Given the description of an element on the screen output the (x, y) to click on. 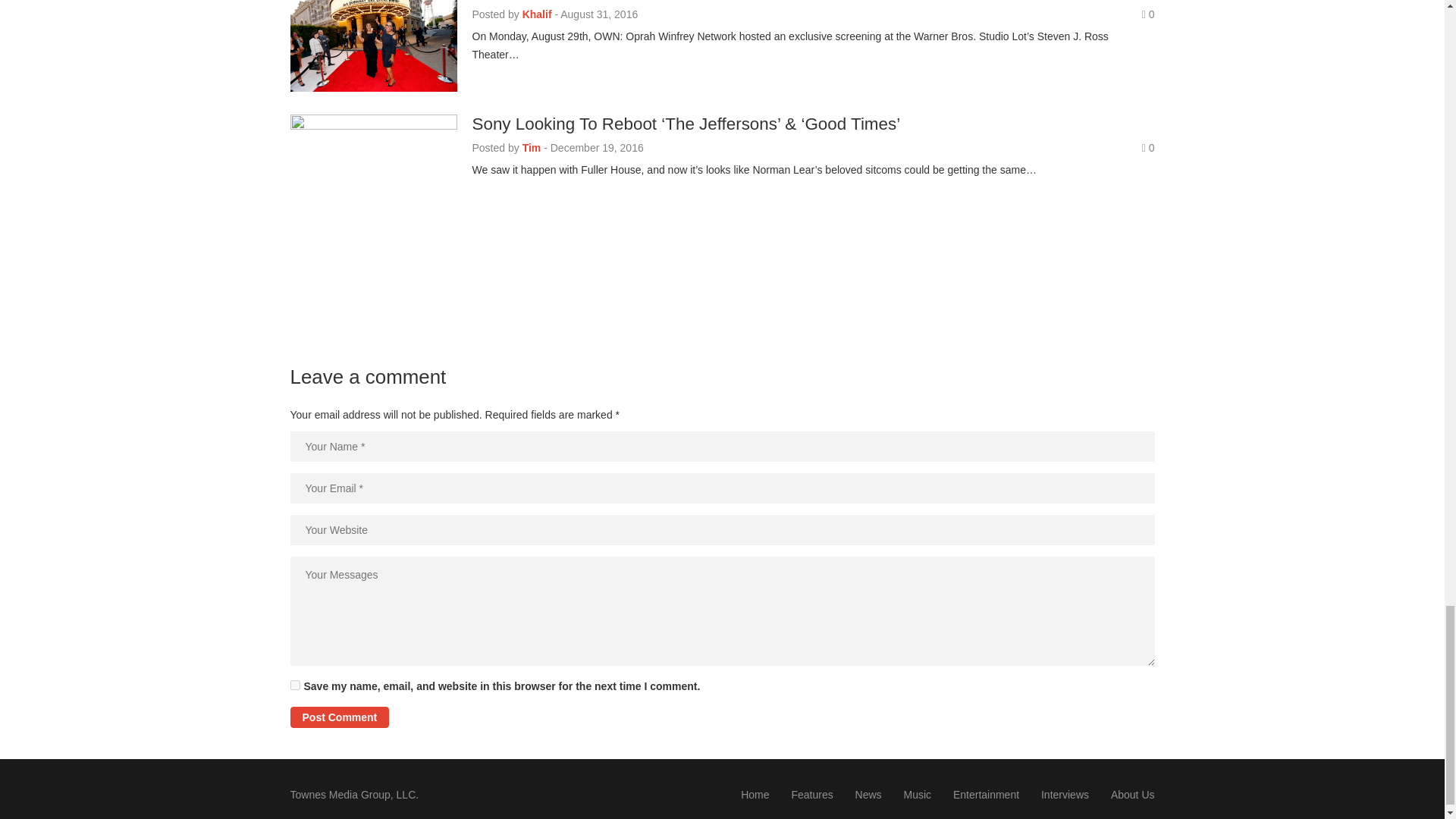
Post Comment (338, 717)
yes (294, 685)
Posts by Tim (531, 147)
Posts by Khalif (536, 14)
